Given the description of an element on the screen output the (x, y) to click on. 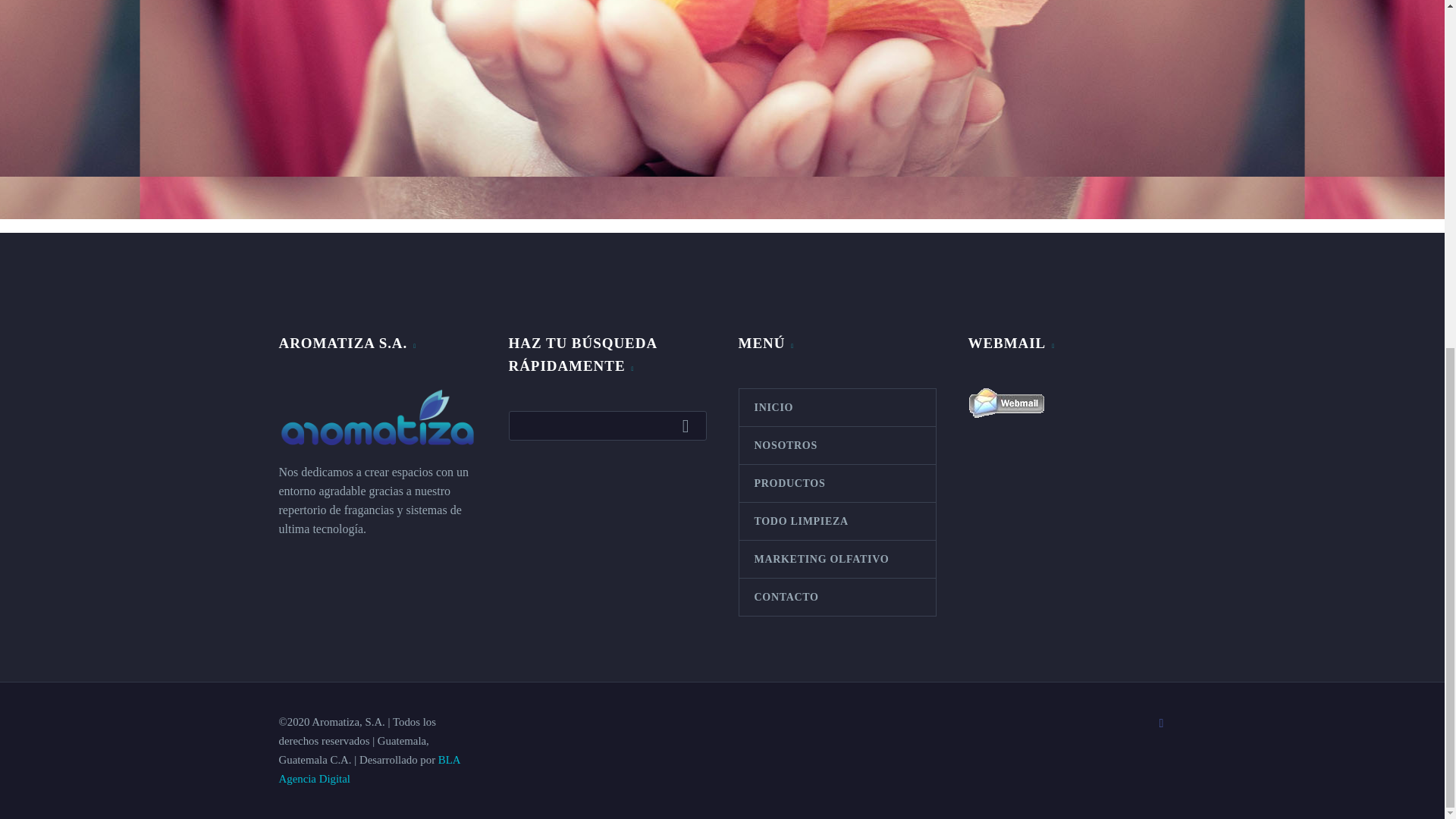
NOSOTROS (836, 445)
BUSCAR (689, 425)
TODO LIMPIEZA (836, 520)
Facebook (1161, 723)
CONTACTO (836, 596)
INICIO (836, 407)
BLA Agencia Digital (369, 768)
PRODUCTOS (836, 483)
MARKETING OLFATIVO (836, 559)
